Given the description of an element on the screen output the (x, y) to click on. 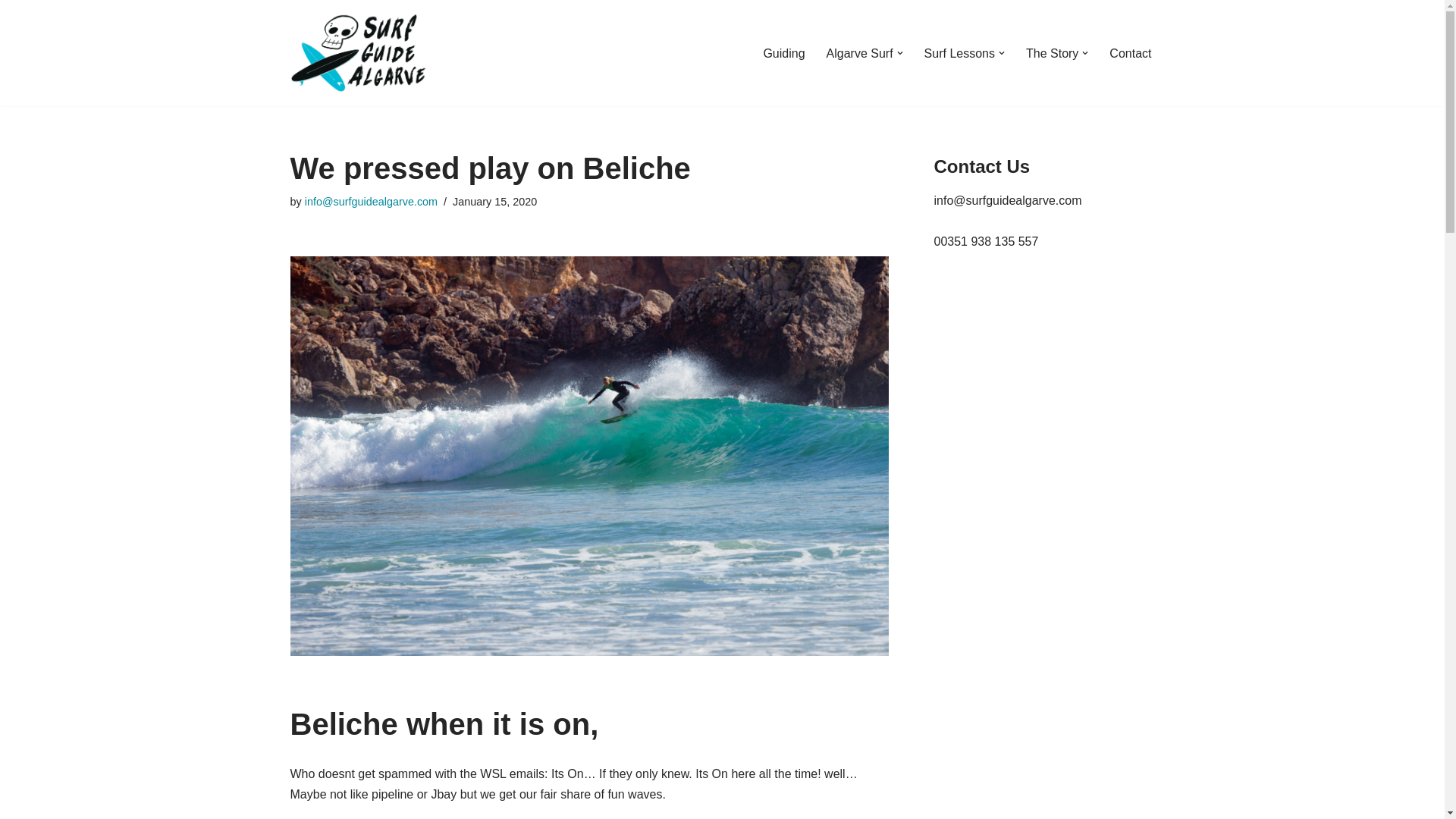
Algarve Surf (860, 53)
Surf Lessons (959, 53)
Contact (1130, 53)
Skip to content (11, 31)
The Story (1052, 53)
Guiding (783, 53)
